Given the description of an element on the screen output the (x, y) to click on. 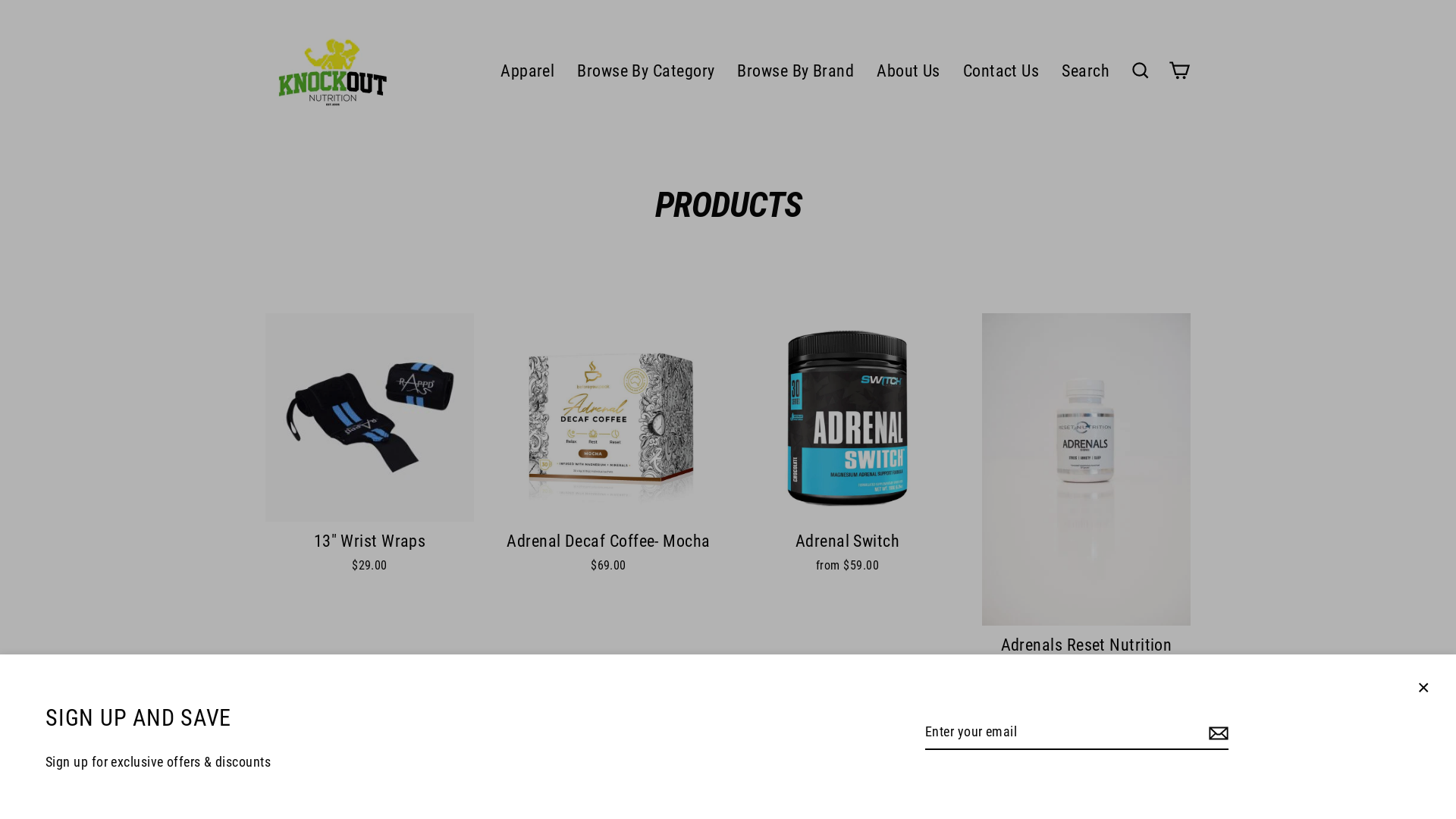
Adrenals Reset Nutrition
$69.00 Element type: text (1086, 499)
13" Wrist Wraps
$29.00 Element type: text (369, 447)
Cart Element type: text (1179, 70)
Browse By Category Element type: text (645, 70)
Adrenal Decaf Coffee- Mocha
$69.00 Element type: text (608, 447)
Search Element type: text (1140, 70)
Adrenal Switch
from $59.00 Element type: text (847, 447)
Browse By Brand Element type: text (795, 70)
Search Element type: text (1085, 70)
Apparel Element type: text (527, 70)
About Us Element type: text (908, 70)
Contact Us Element type: text (1001, 70)
Close (esc) Element type: text (1422, 687)
Subscribe Element type: hover (1216, 732)
Skip to content Element type: text (0, 0)
